Given the description of an element on the screen output the (x, y) to click on. 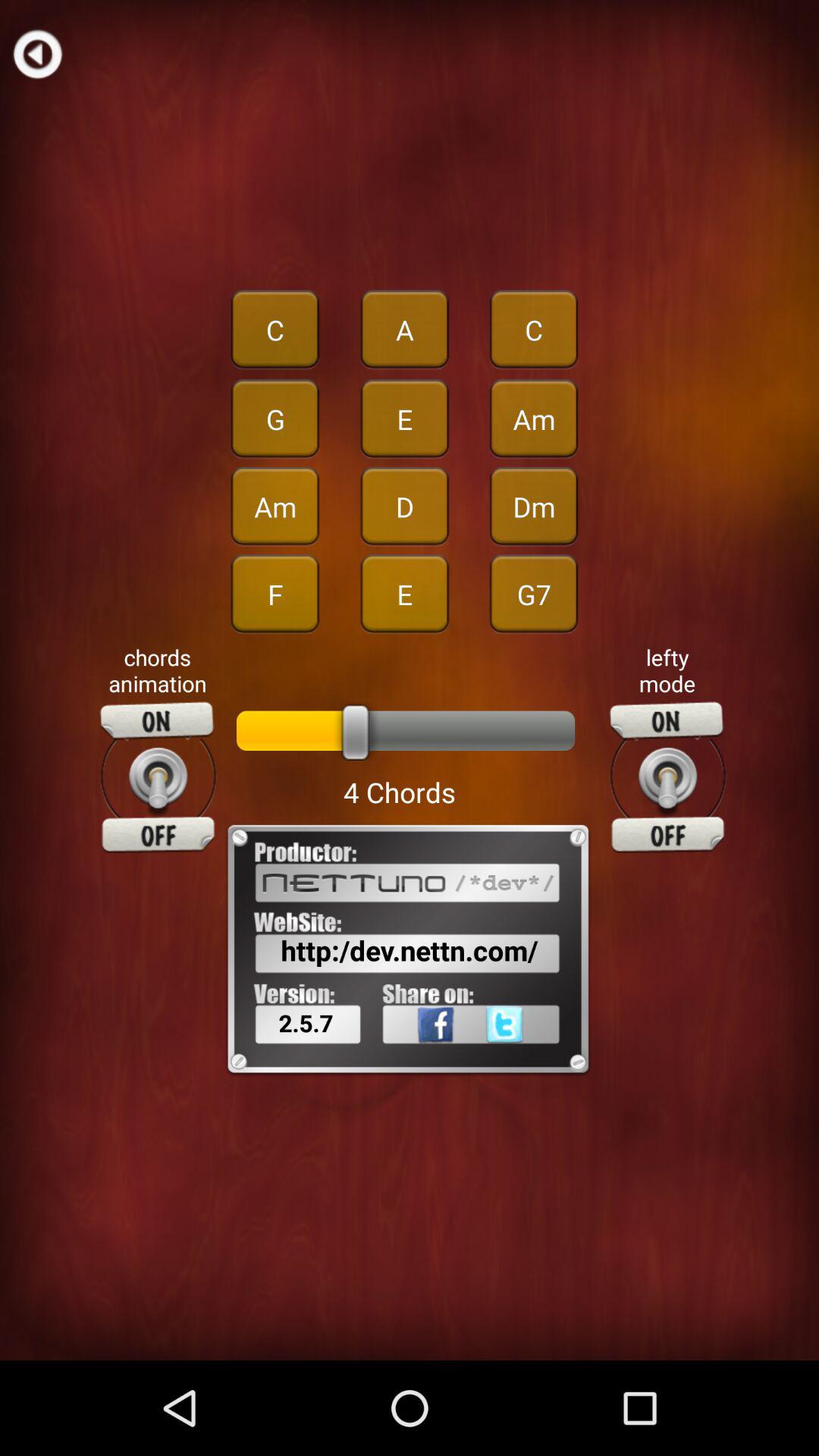
select the left mode option for on and off (667, 777)
